Given the description of an element on the screen output the (x, y) to click on. 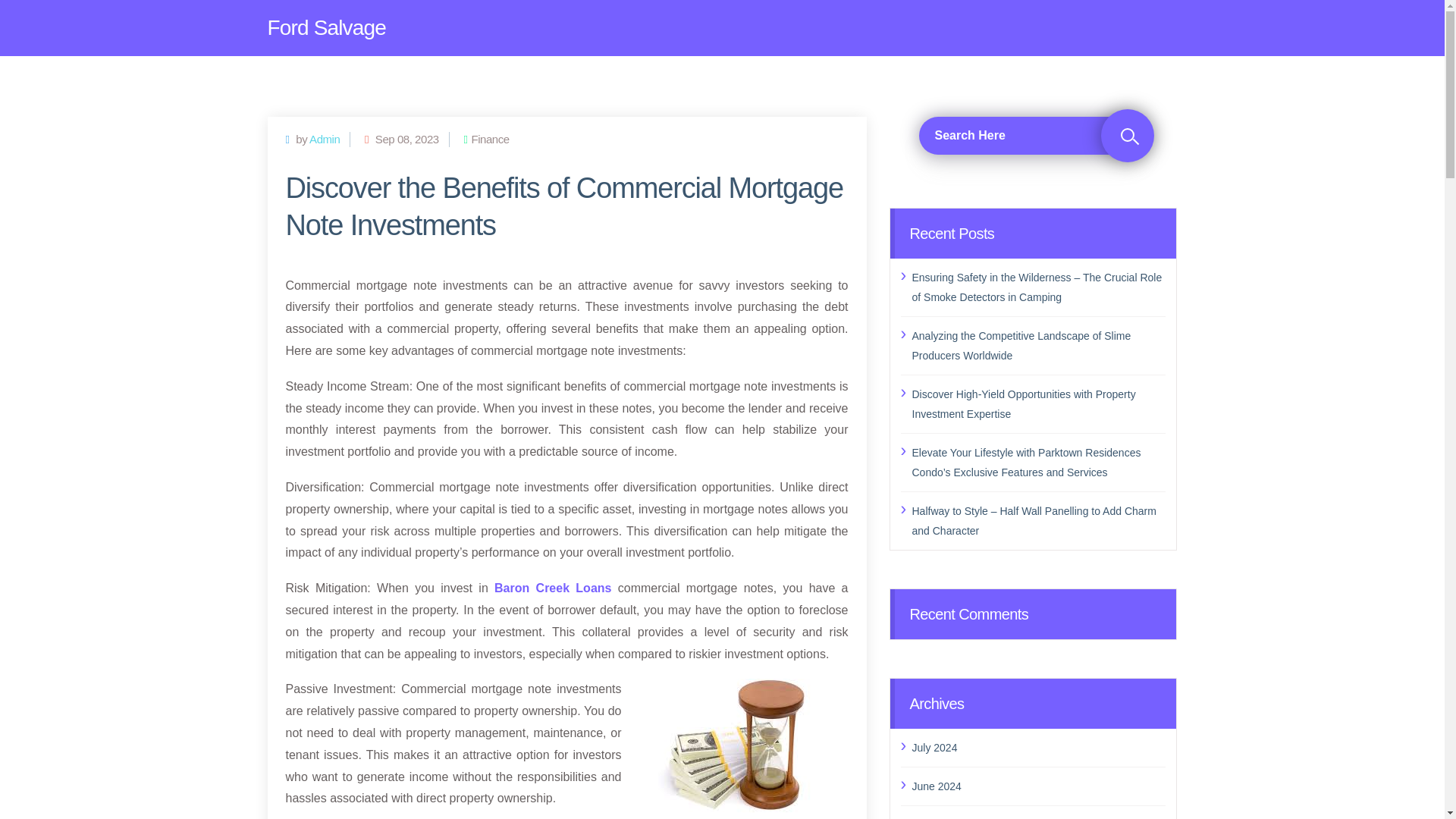
Baron Creek Loans (553, 587)
Admin (323, 138)
Ford Salvage (325, 27)
July 2024 (1038, 747)
June 2024 (1038, 786)
May 2024 (1038, 816)
